Given the description of an element on the screen output the (x, y) to click on. 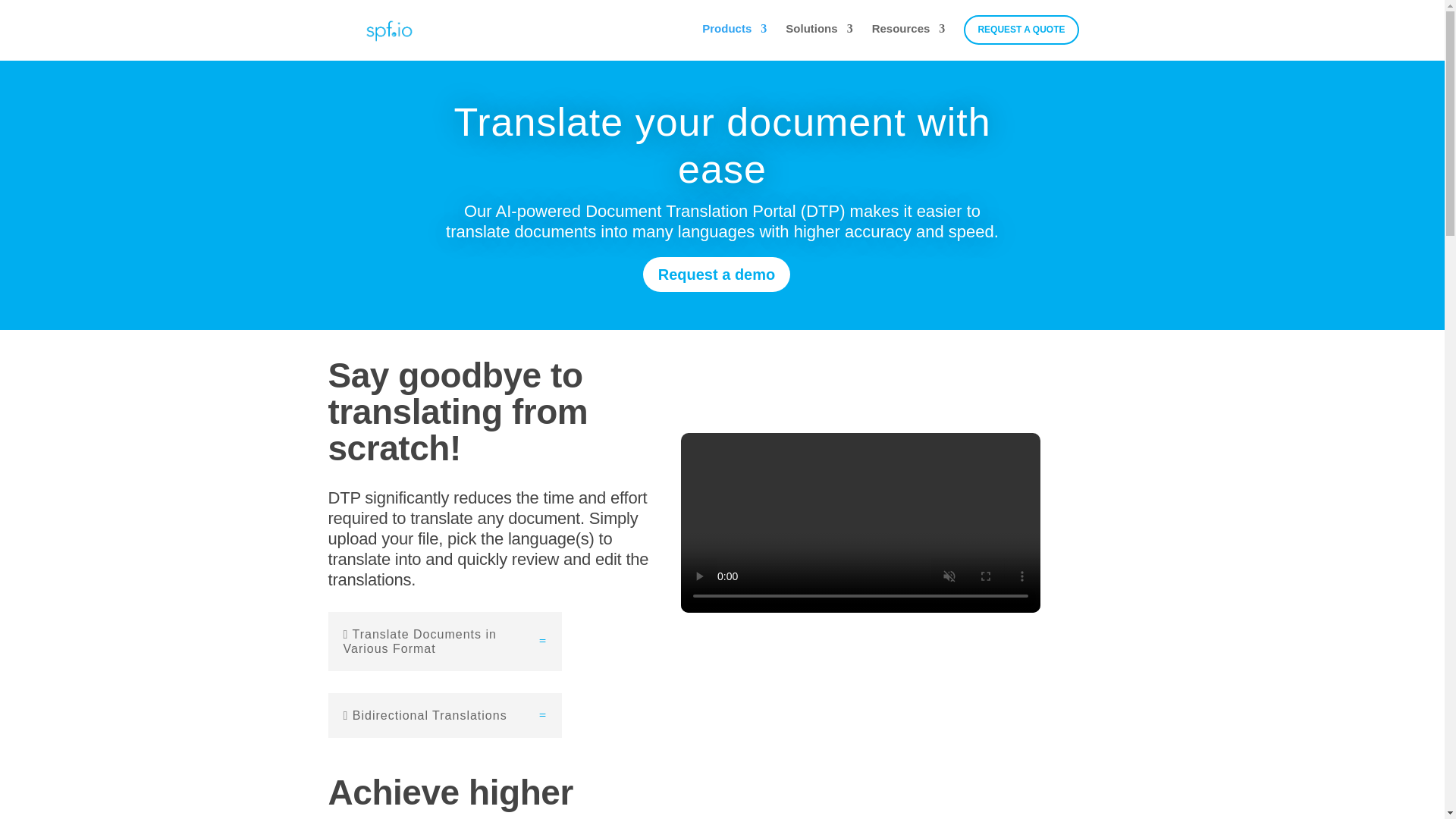
Solutions (818, 40)
Resources (908, 40)
REQUEST A QUOTE (1020, 30)
Request a demo (716, 274)
Products (734, 40)
